Given the description of an element on the screen output the (x, y) to click on. 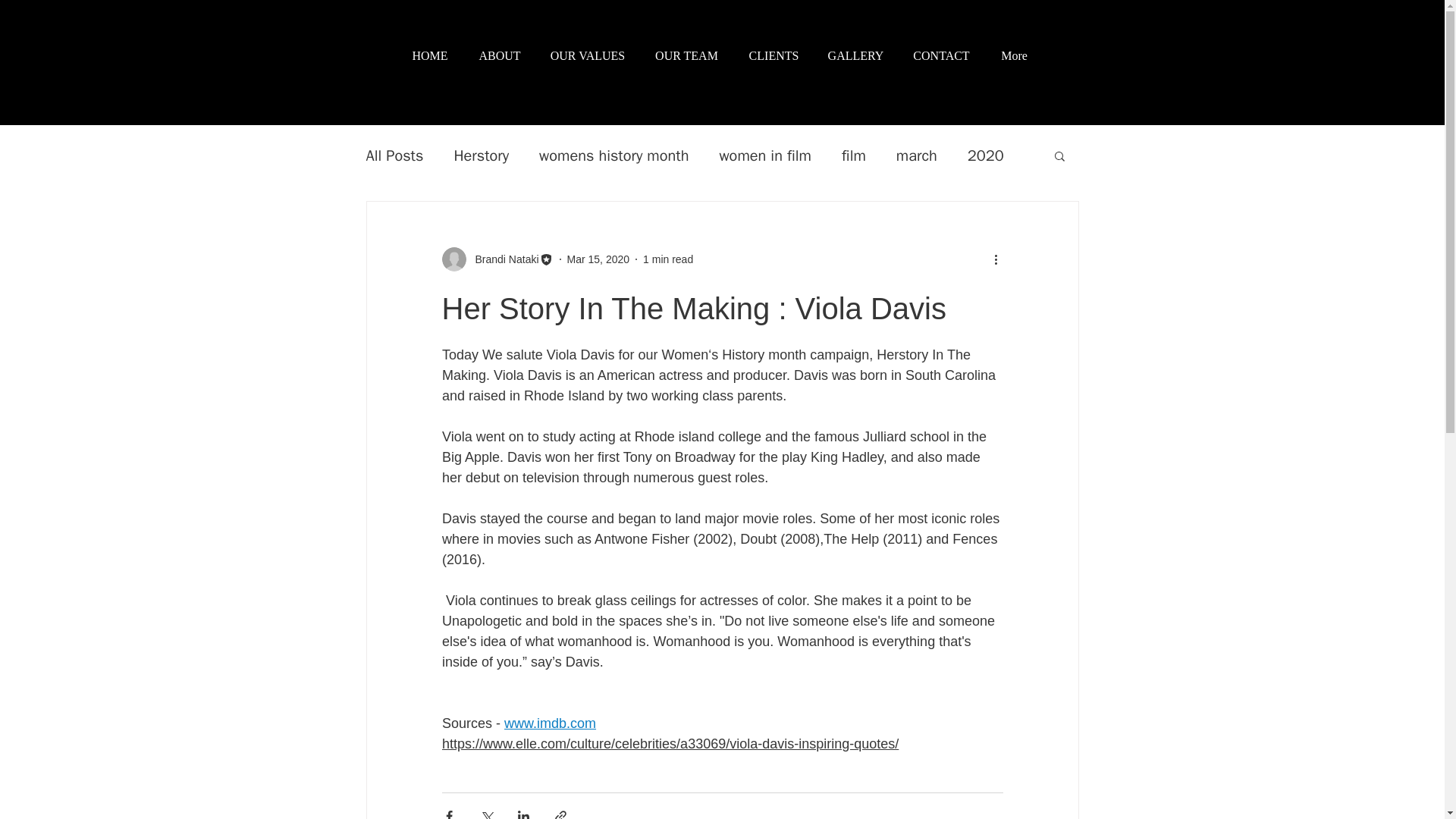
women in film (764, 155)
CLIENTS (773, 55)
Mar 15, 2020 (598, 259)
march (916, 155)
ABOUT (499, 55)
Brandi Nataki (501, 259)
Herstory (480, 155)
All Posts (394, 155)
OUR VALUES (587, 55)
womens history month (613, 155)
